Given the description of an element on the screen output the (x, y) to click on. 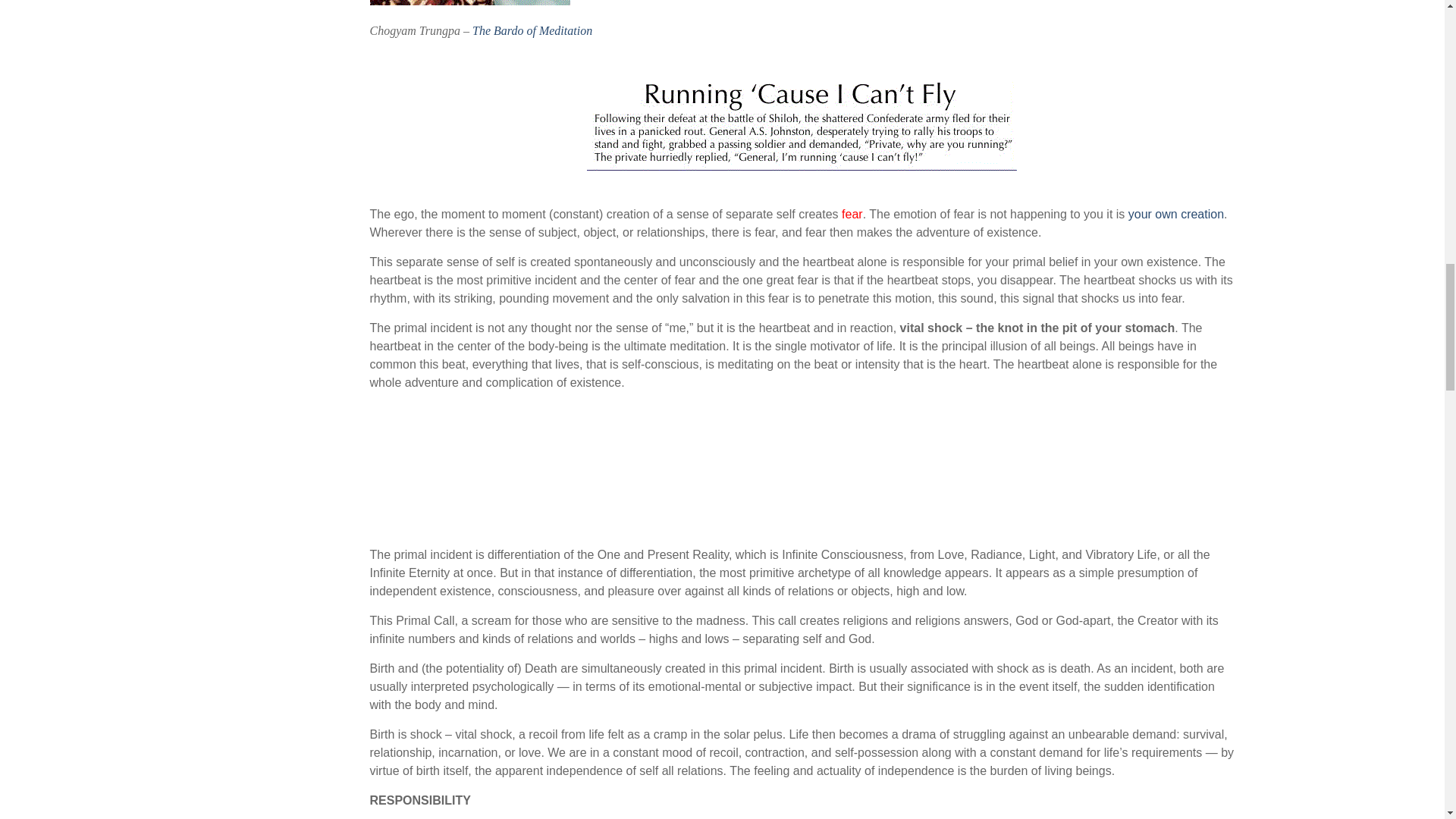
your own creation (1176, 214)
The Bardo of Meditation (531, 30)
